Given the description of an element on the screen output the (x, y) to click on. 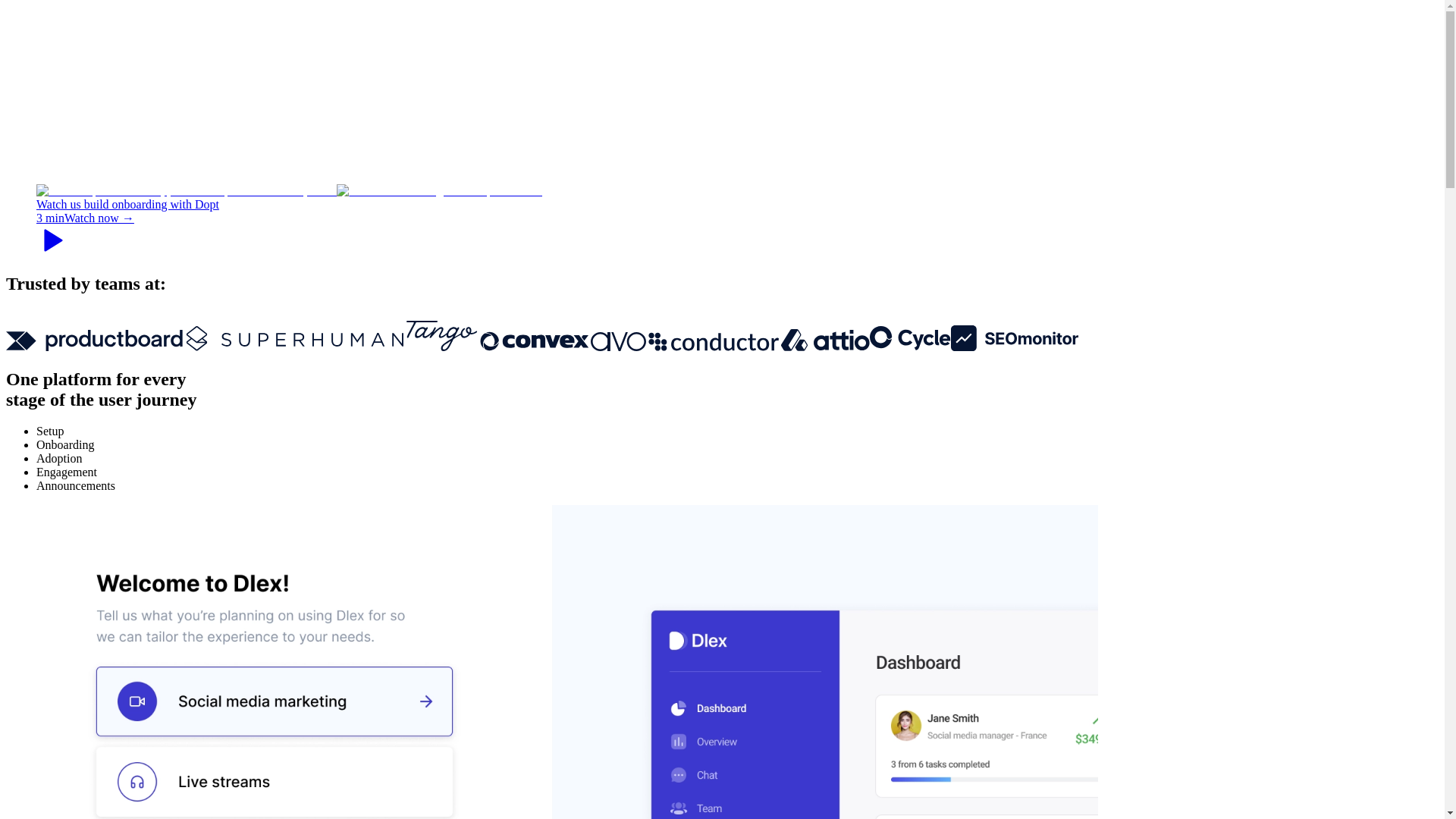
Engagement Element type: text (66, 471)
Setup Element type: text (49, 430)
Adoption Element type: text (58, 457)
Announcements Element type: text (75, 485)
Onboarding Element type: text (65, 444)
